Given the description of an element on the screen output the (x, y) to click on. 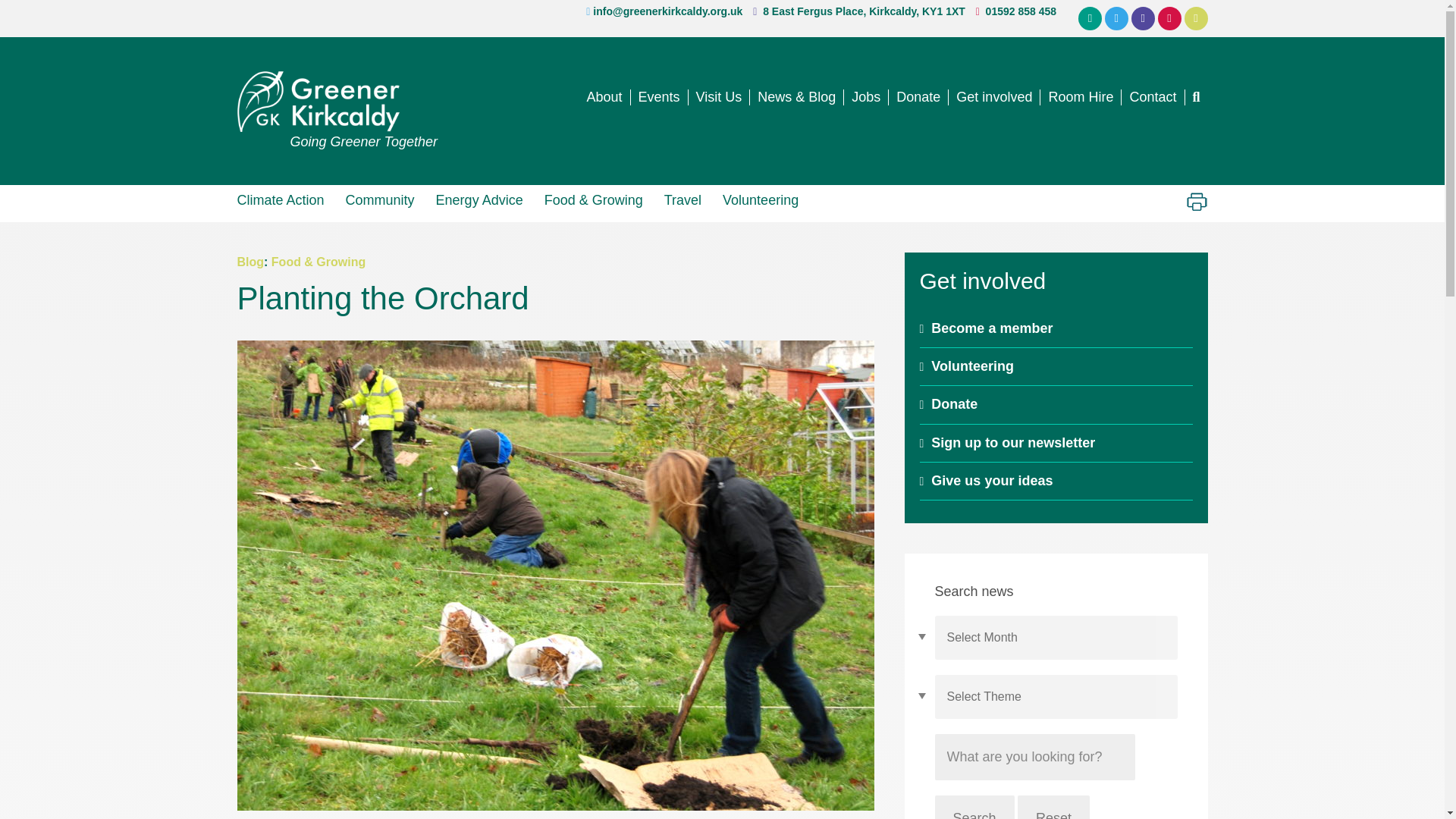
Volunteering (760, 199)
Instagram (1168, 18)
Mail (1090, 18)
About (604, 97)
Open search (1196, 97)
Travel (682, 199)
Greener Kirkcaldy (335, 101)
Jobs (866, 97)
Blog (249, 261)
Contact (1153, 97)
Community (379, 199)
Climate Action (284, 199)
Events (659, 97)
Donate (918, 97)
Visit Us (719, 97)
